Given the description of an element on the screen output the (x, y) to click on. 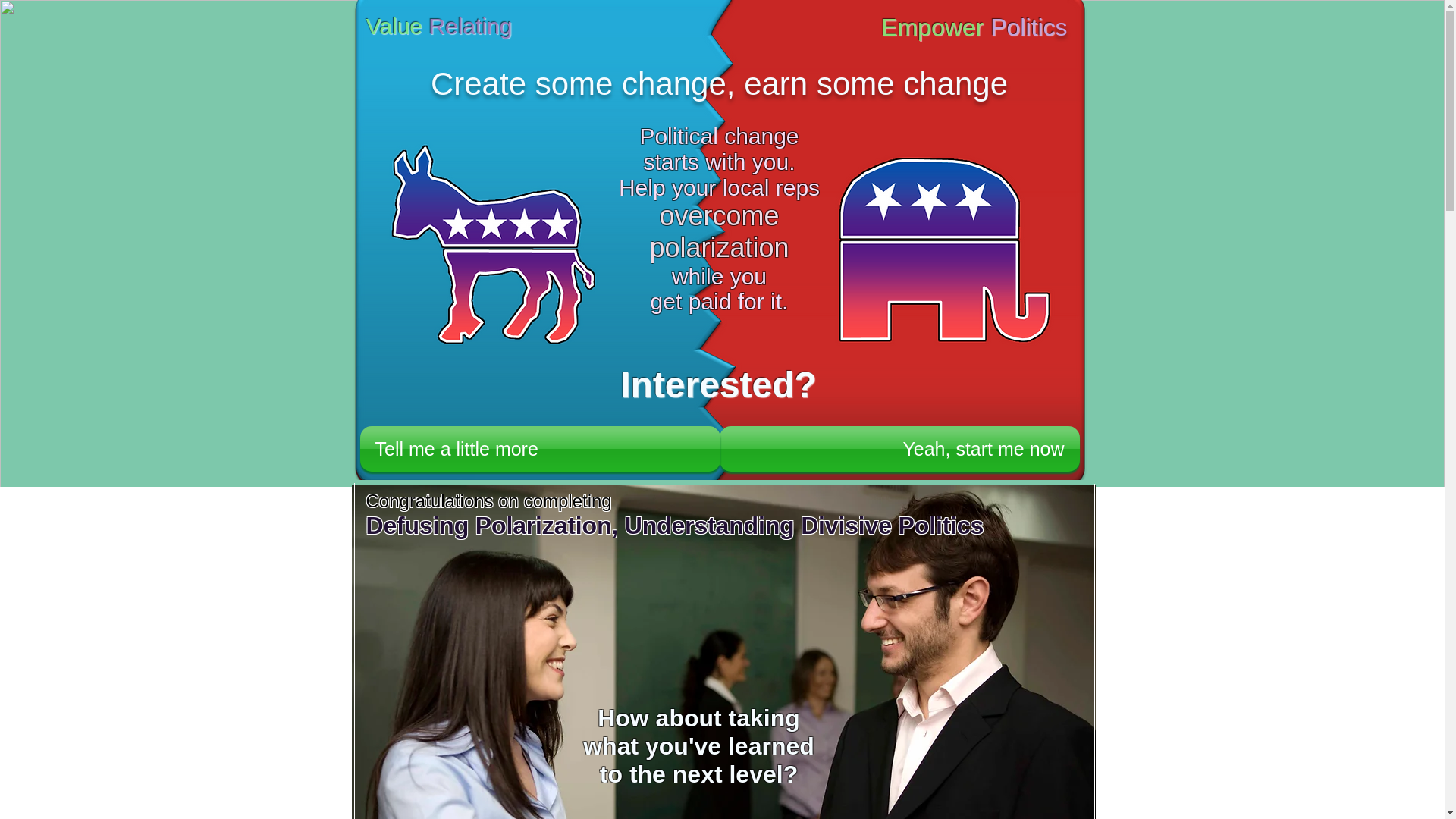
Yeah, start me now (898, 448)
Value Relating (438, 25)
Tell me a little more (539, 448)
Defusing Polarization, Understanding Divisive Politics (674, 524)
